Given the description of an element on the screen output the (x, y) to click on. 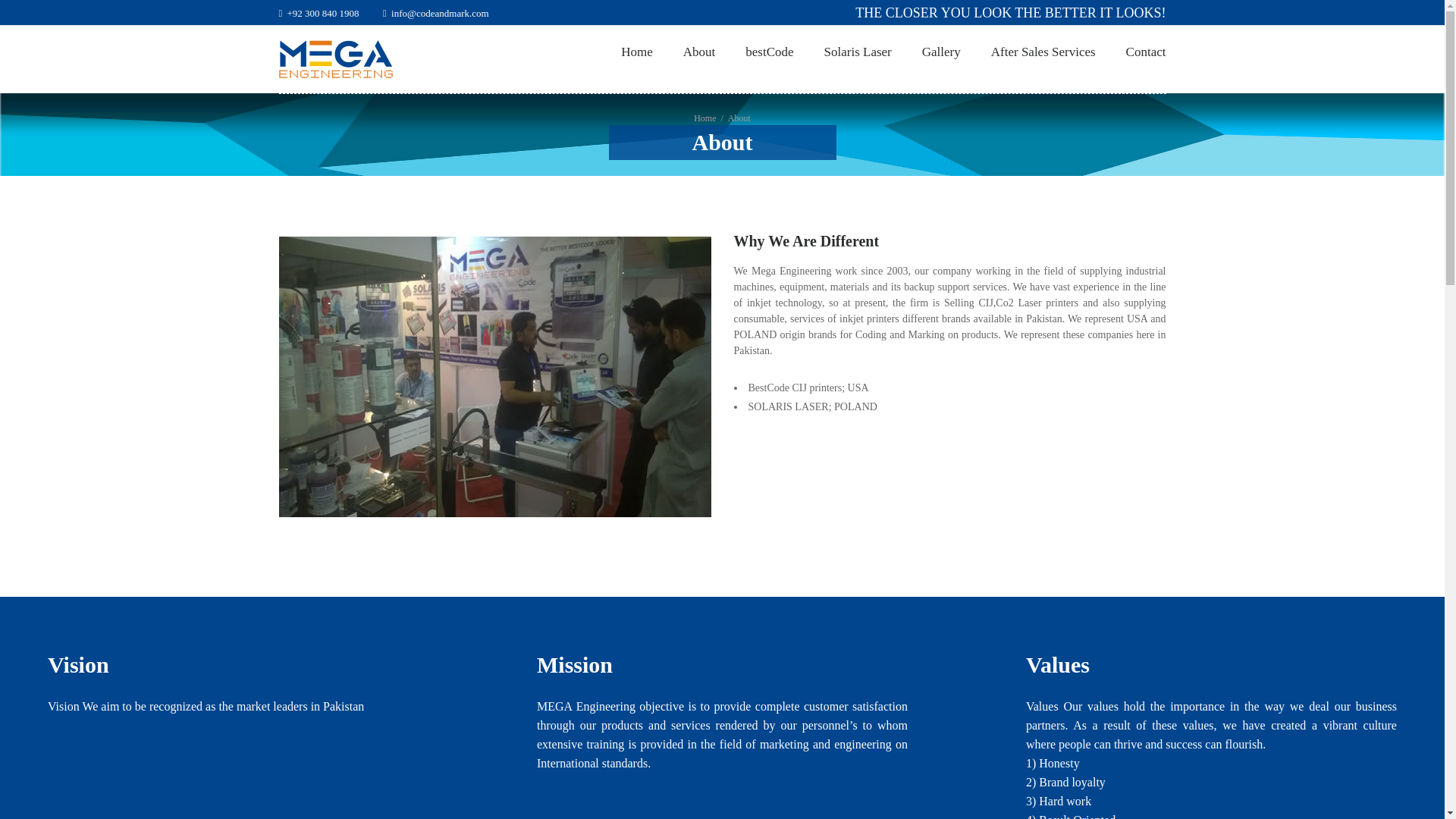
After Sales Services (1043, 53)
Solaris Laser (857, 53)
